Given the description of an element on the screen output the (x, y) to click on. 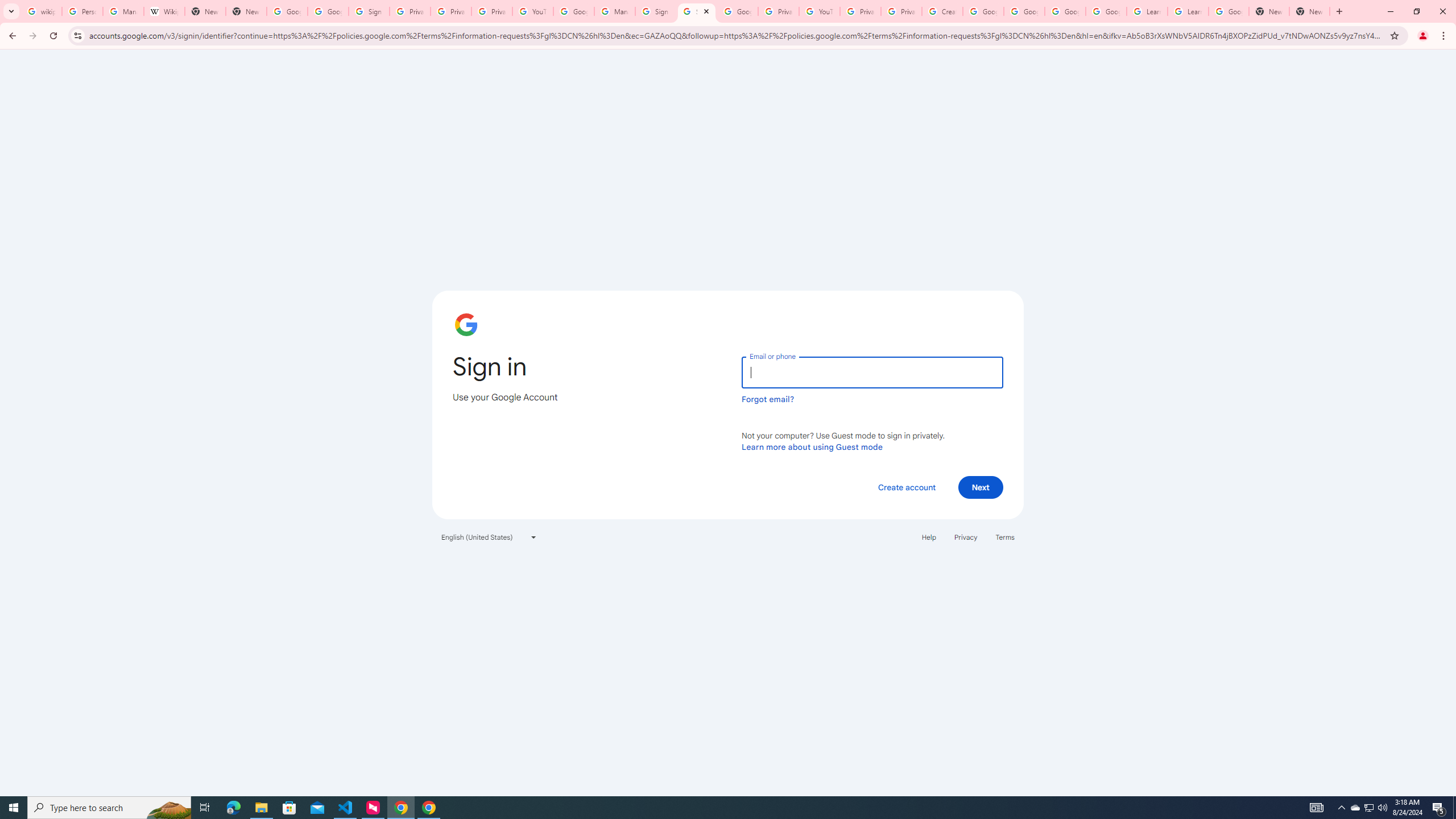
English (United States) (489, 536)
Personalization & Google Search results - Google Search Help (81, 11)
Learn more about using Guest mode (812, 446)
Google Account (1228, 11)
Google Account Help (1064, 11)
Google Account Help (983, 11)
YouTube (532, 11)
